Given the description of an element on the screen output the (x, y) to click on. 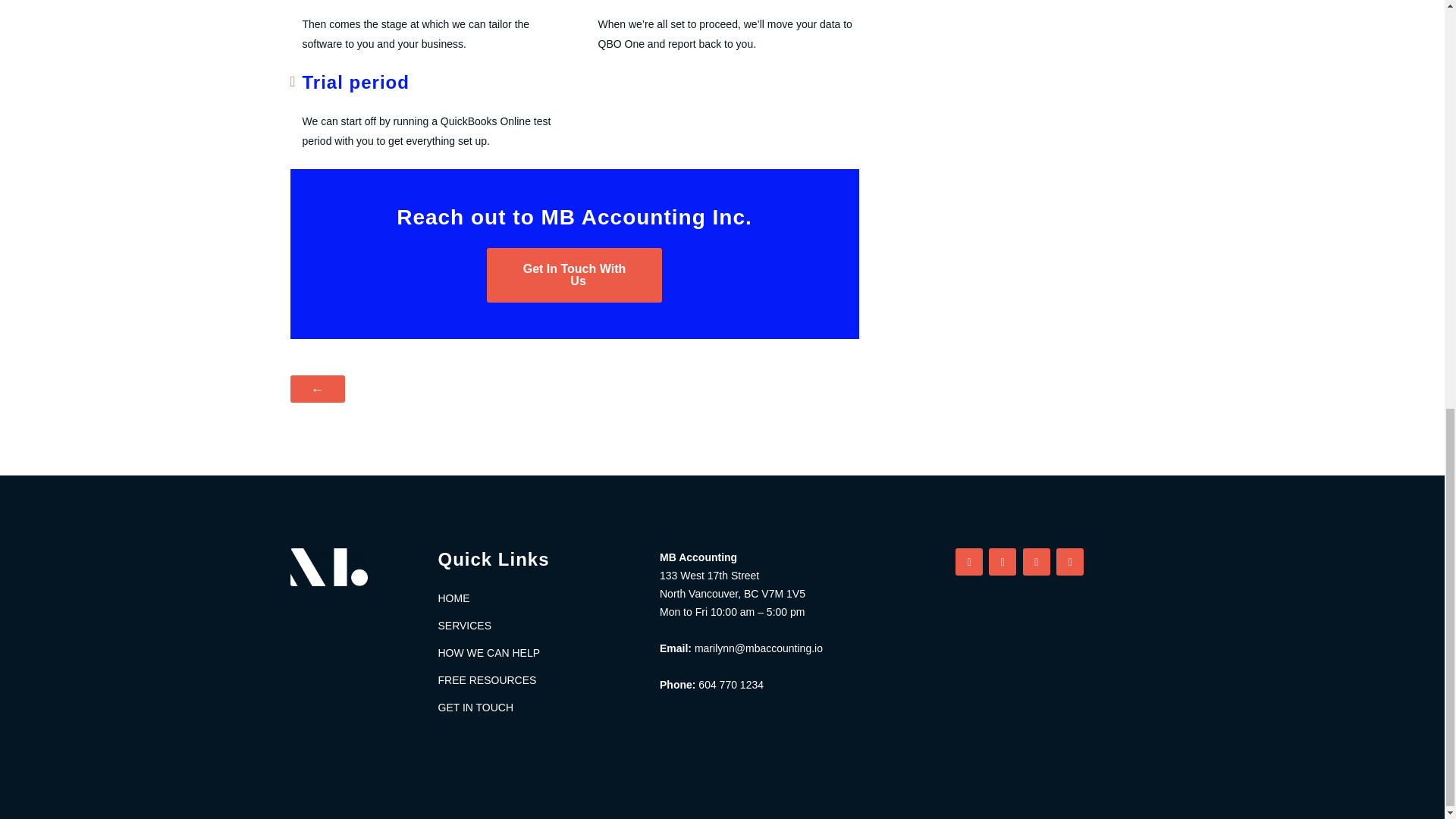
HOME (537, 597)
Get In Touch With Us (573, 275)
GET IN TOUCH (537, 707)
HOW WE CAN HELP (537, 652)
FREE RESOURCES (537, 679)
SERVICES (537, 625)
